Given the description of an element on the screen output the (x, y) to click on. 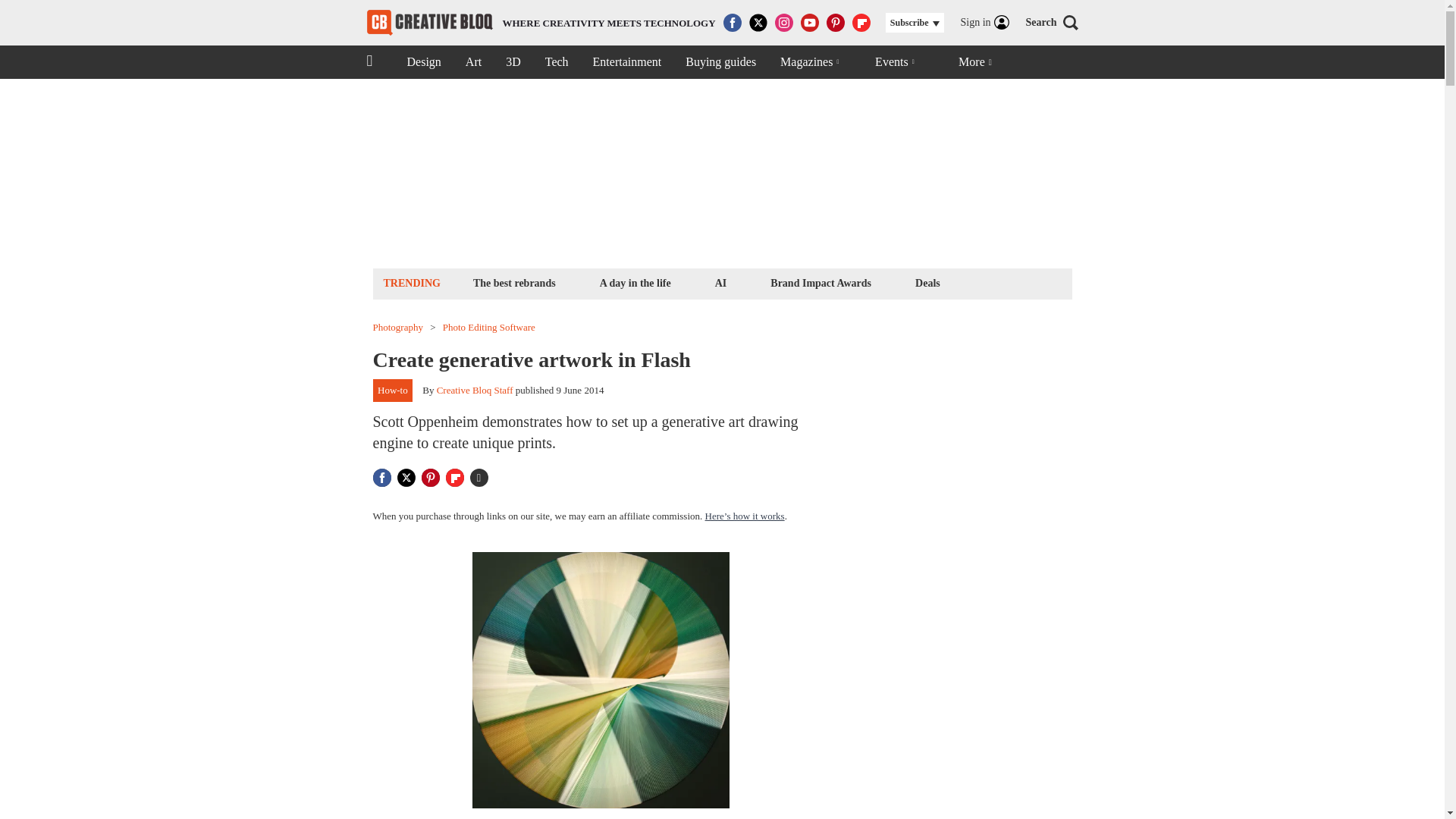
Entertainment (627, 61)
3D (512, 61)
Creative Bloq Staff (474, 389)
Creative Bloq (429, 22)
AI (541, 22)
Tech (721, 282)
Art (556, 61)
A day in the life (472, 61)
How-to (635, 282)
